Given the description of an element on the screen output the (x, y) to click on. 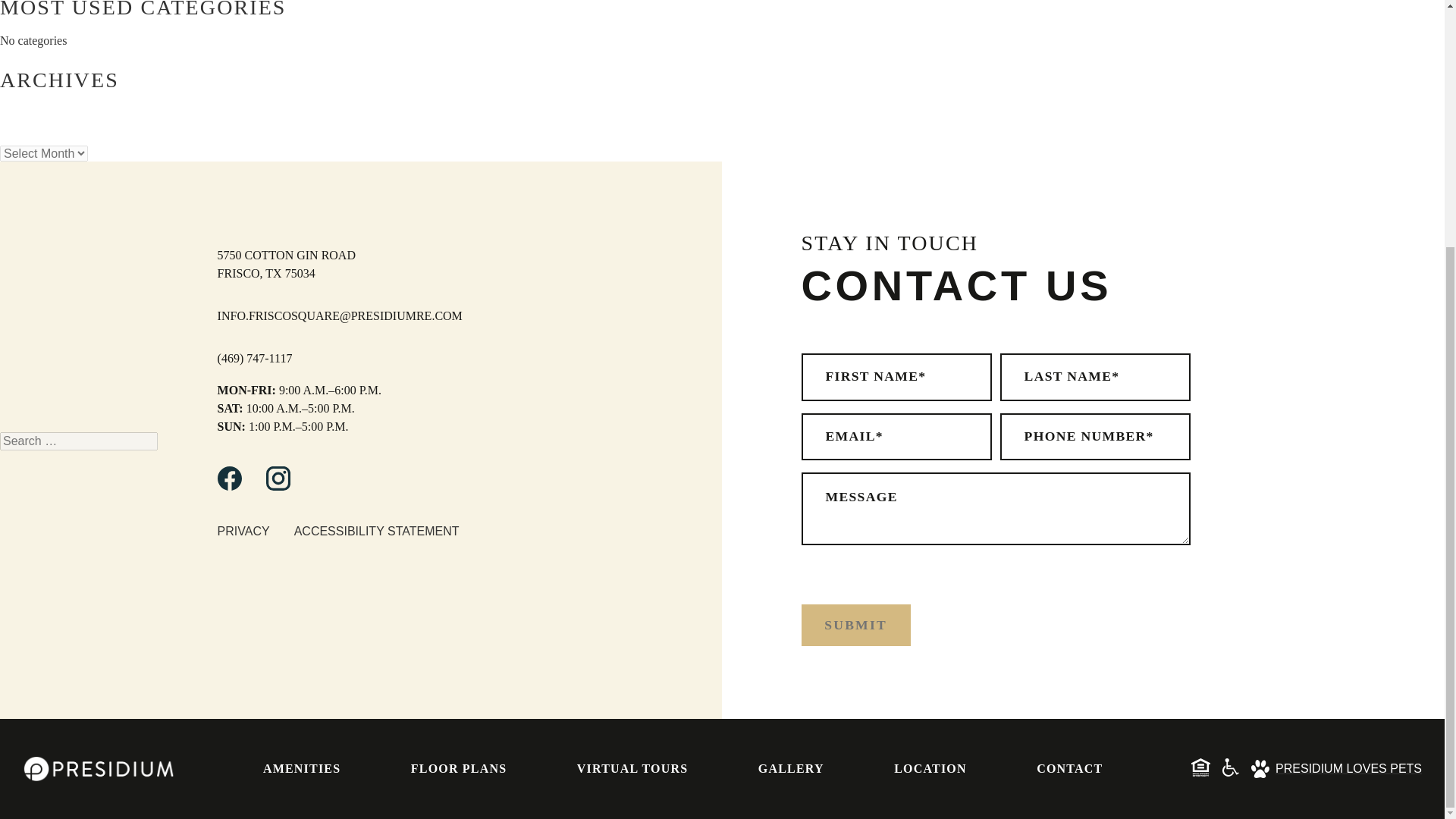
Submit (855, 625)
Instagram (277, 486)
VIRTUAL TOURS (632, 768)
facebook (228, 486)
PRESIDIUM LOVES PETS (1336, 769)
ACCESSIBILITY STATEMENT (377, 530)
LOCATION (929, 768)
Submit (855, 625)
GALLERY (791, 768)
AMENITIES (301, 768)
